Given the description of an element on the screen output the (x, y) to click on. 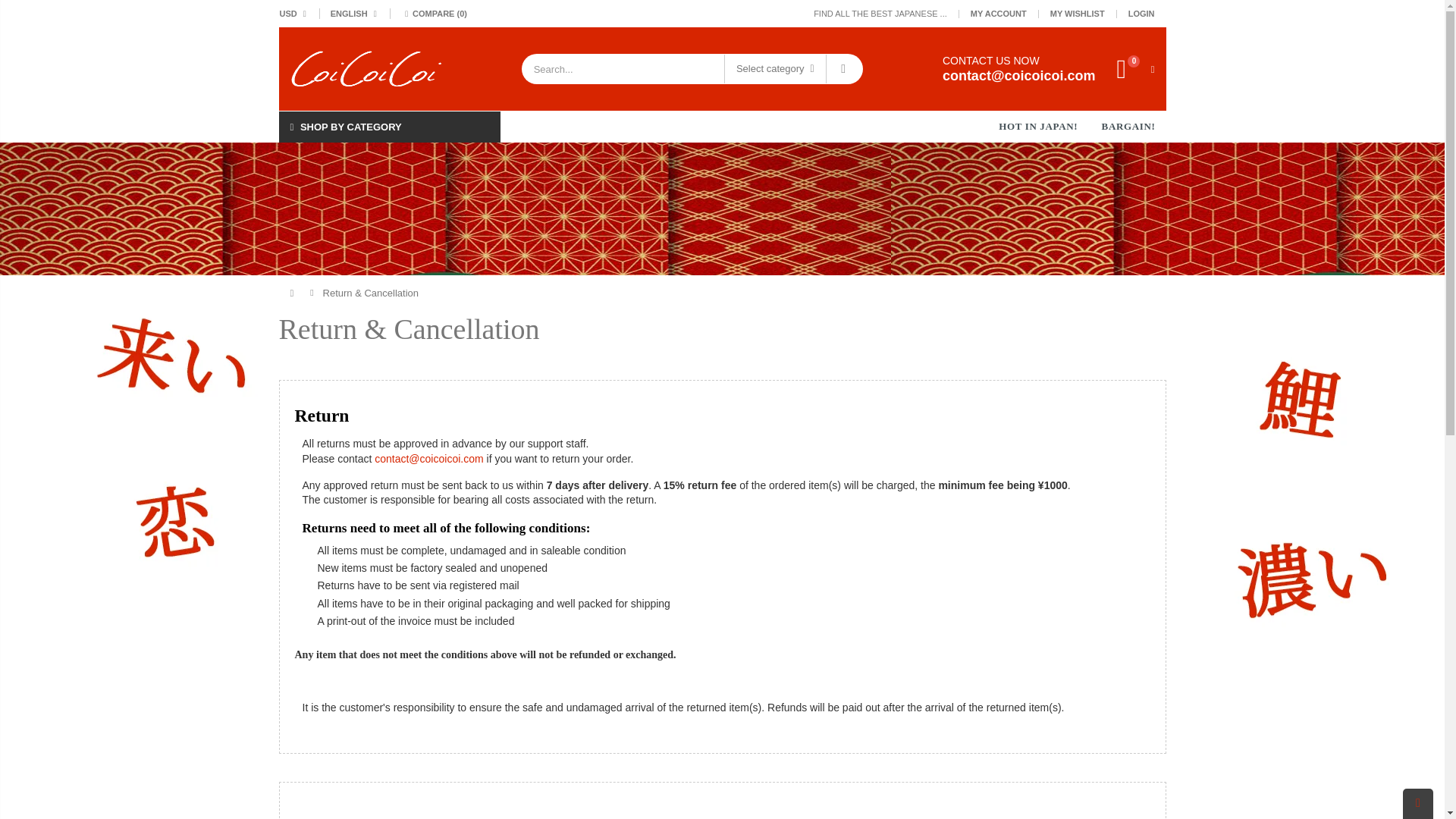
ENGLISH (352, 13)
Select category (775, 68)
LOGIN (1141, 12)
BARGAIN! (1128, 125)
HOT IN JAPAN! (1037, 125)
MY ACCOUNT (998, 12)
MY WISHLIST (1077, 12)
SHOP BY CATEGORY (389, 125)
USD (296, 13)
Back to the frontpage (295, 293)
